Given the description of an element on the screen output the (x, y) to click on. 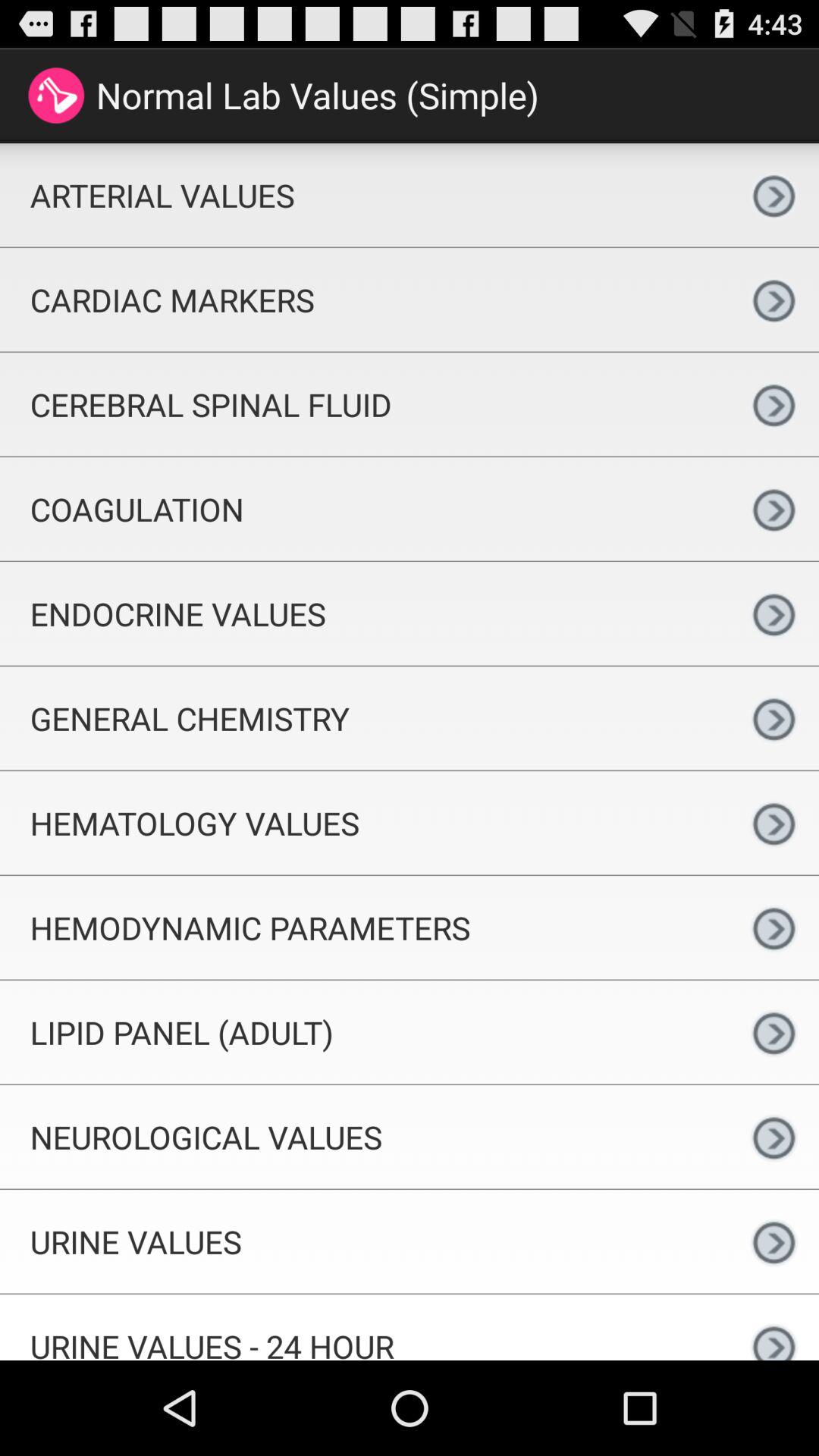
turn off the icon above urine values (364, 1136)
